Given the description of an element on the screen output the (x, y) to click on. 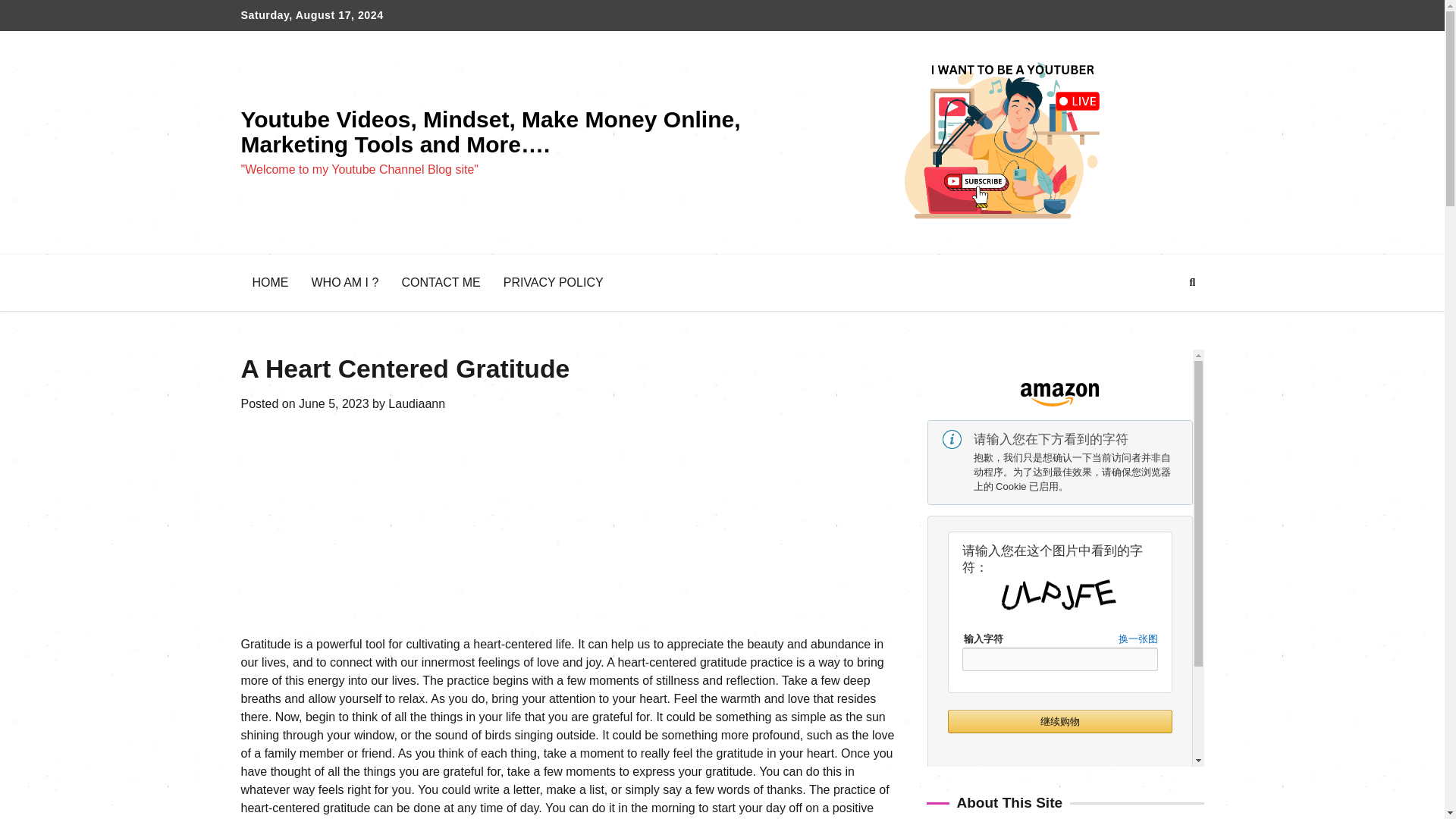
June 5, 2023 (333, 403)
Search (1192, 282)
PRIVACY POLICY (553, 282)
Search (1164, 318)
Advertisement (356, 523)
Laudiaann (416, 403)
CONTACT ME (441, 282)
HOME (270, 282)
WHO AM I ? (344, 282)
